Given the description of an element on the screen output the (x, y) to click on. 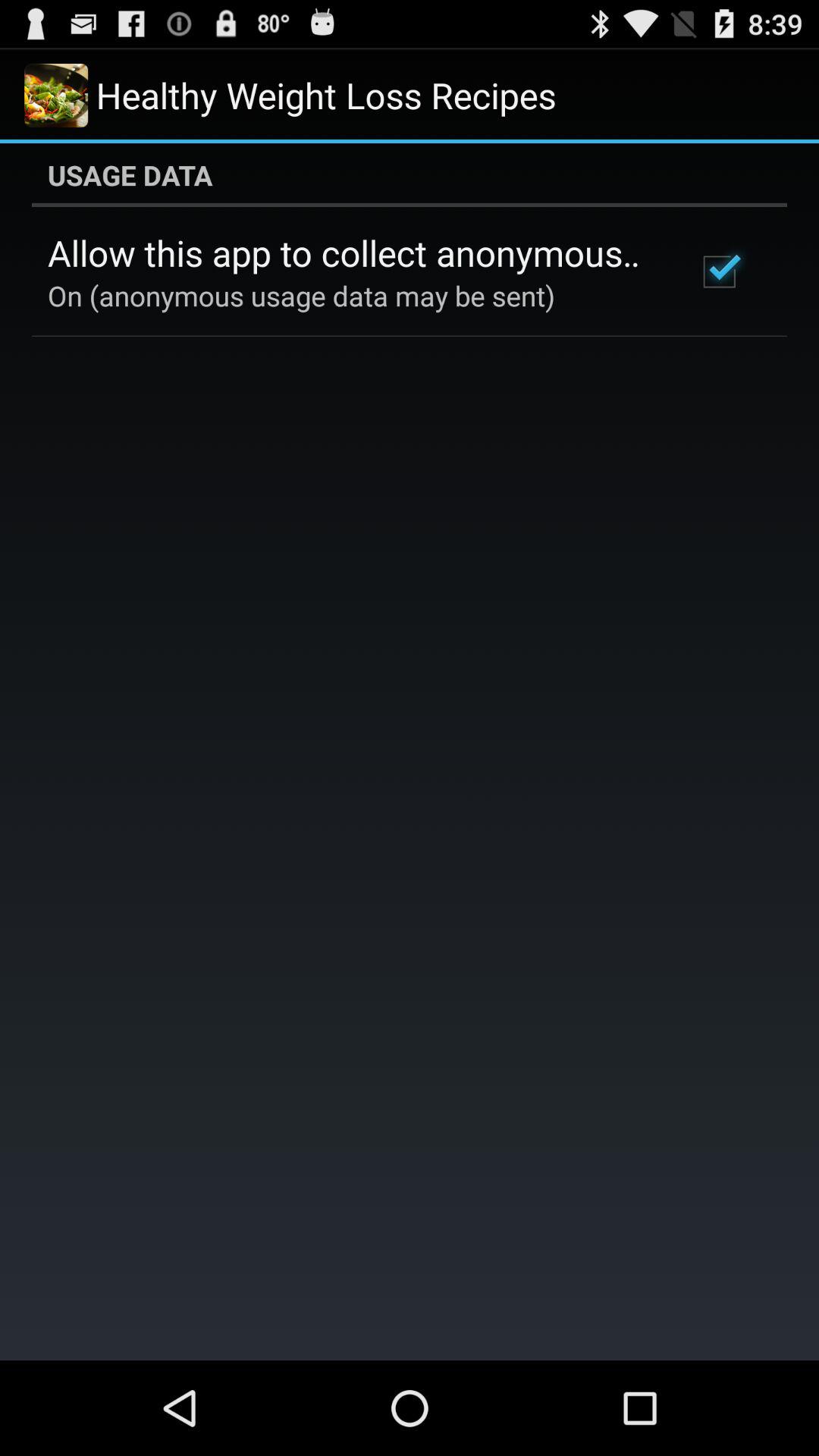
click the allow this app (351, 252)
